Given the description of an element on the screen output the (x, y) to click on. 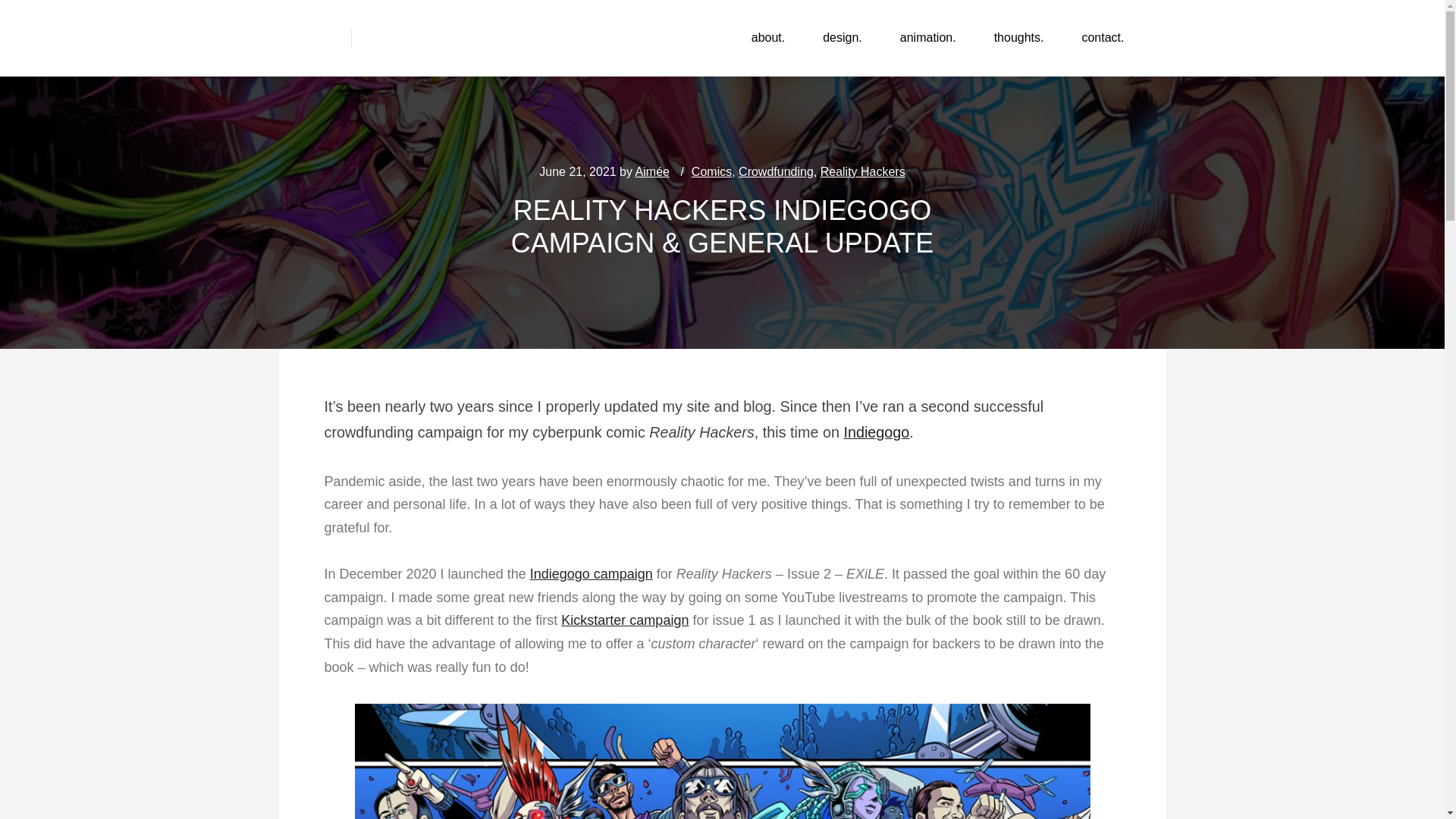
about. (767, 38)
contact. (1102, 38)
Reality Hackers (863, 171)
Kickstarter campaign (624, 620)
thoughts. (1018, 38)
Indiegogo campaign (590, 573)
design. (841, 38)
Indiegogo (875, 432)
Comics (711, 171)
animation. (927, 38)
Crowdfunding (775, 171)
